Given the description of an element on the screen output the (x, y) to click on. 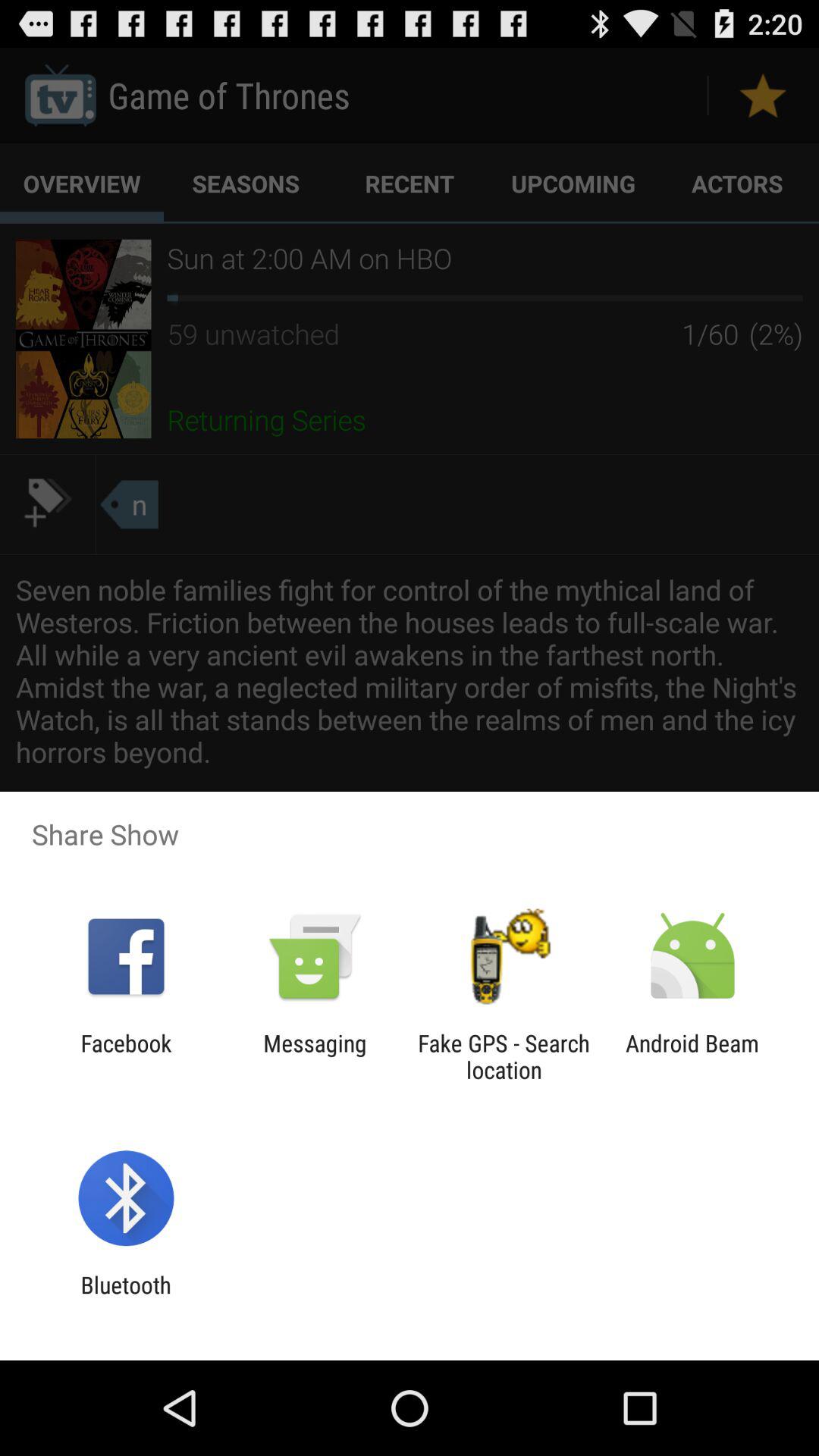
select bluetooth (125, 1298)
